Given the description of an element on the screen output the (x, y) to click on. 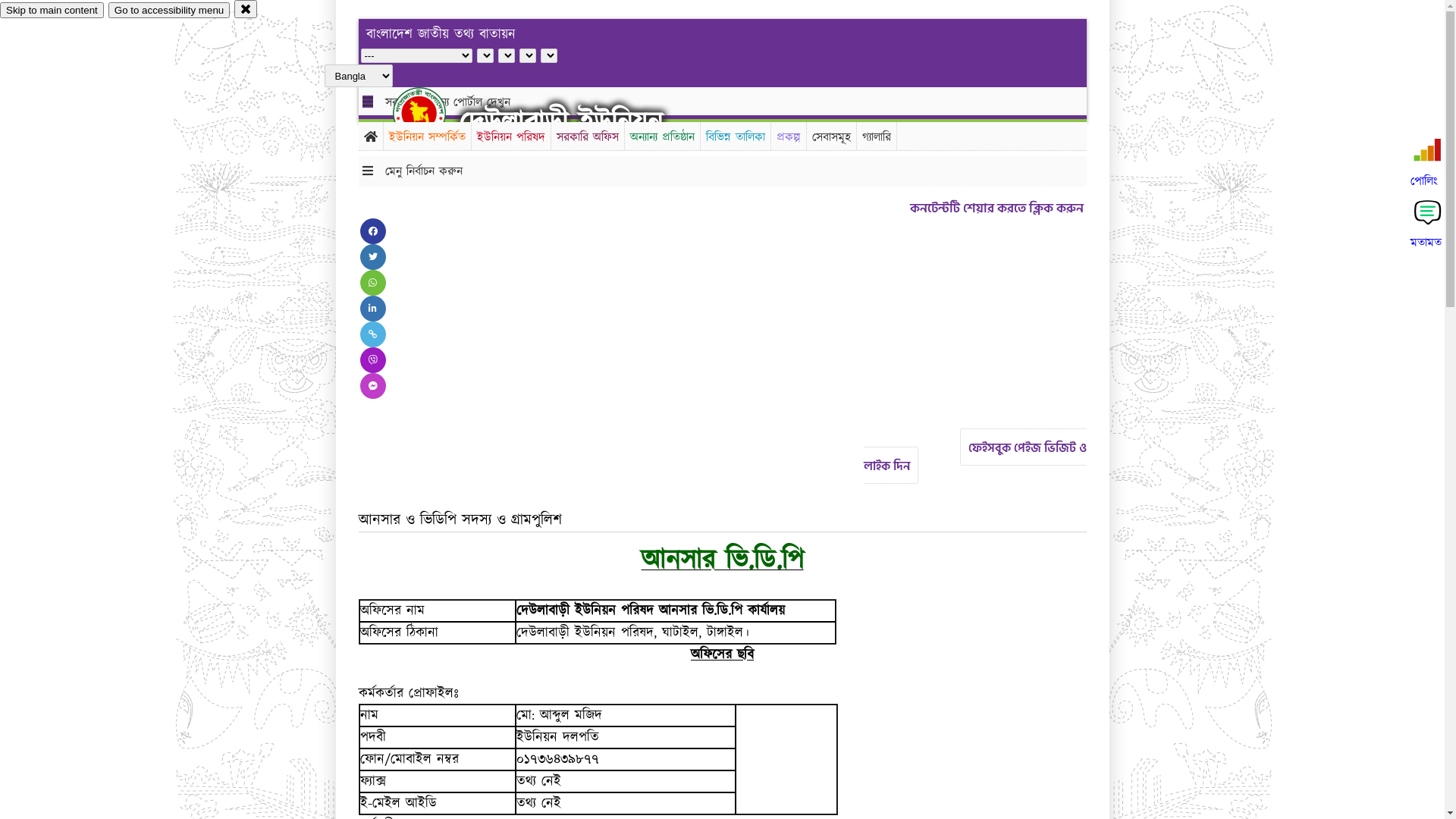

                
             Element type: hover (431, 112)
Go to accessibility menu Element type: text (168, 10)
Skip to main content Element type: text (51, 10)
close Element type: hover (245, 9)
